Given the description of an element on the screen output the (x, y) to click on. 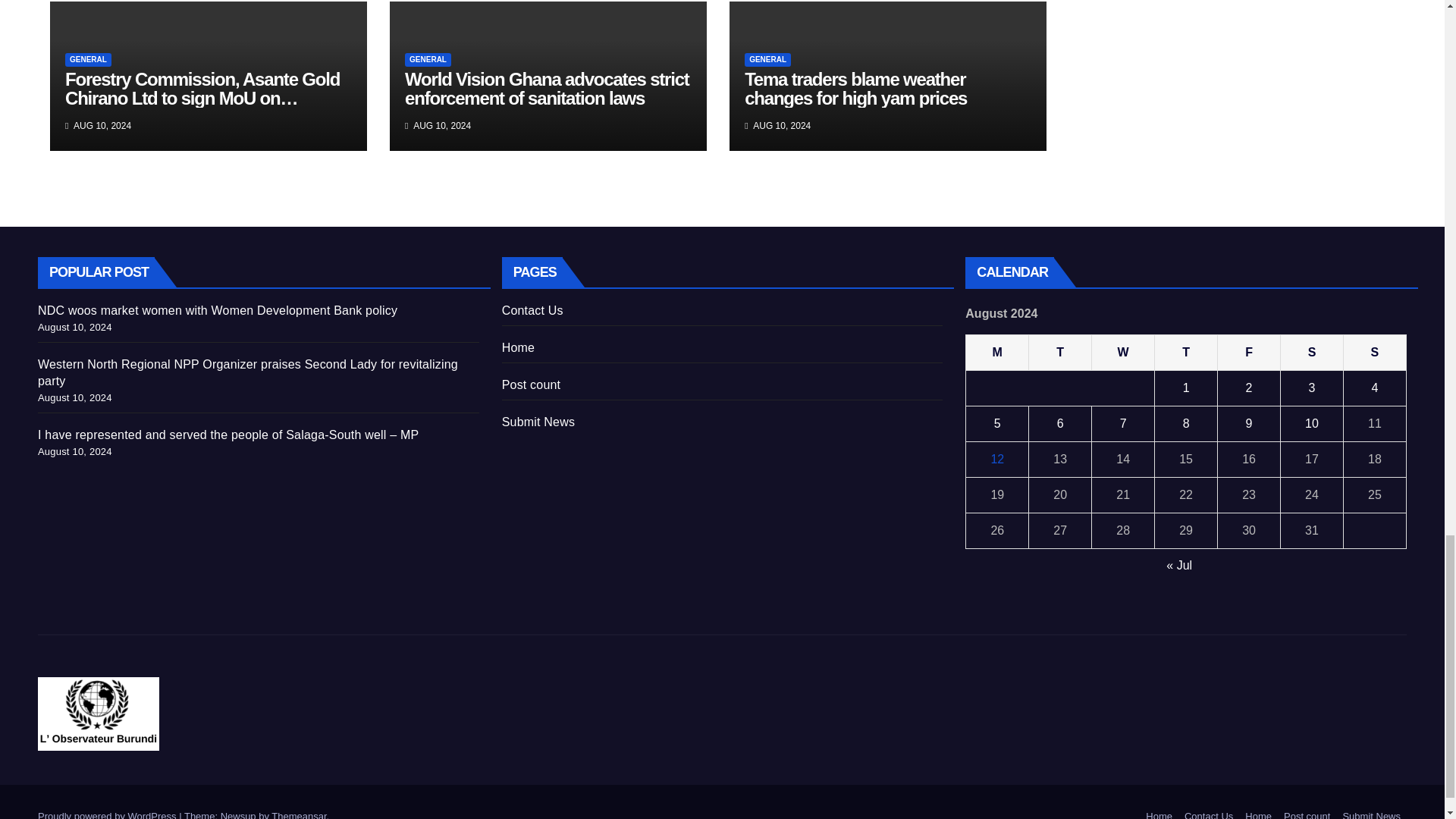
GENERAL (767, 59)
Tema traders blame weather changes for high yam prices (855, 88)
GENERAL (427, 59)
GENERAL (88, 59)
